Given the description of an element on the screen output the (x, y) to click on. 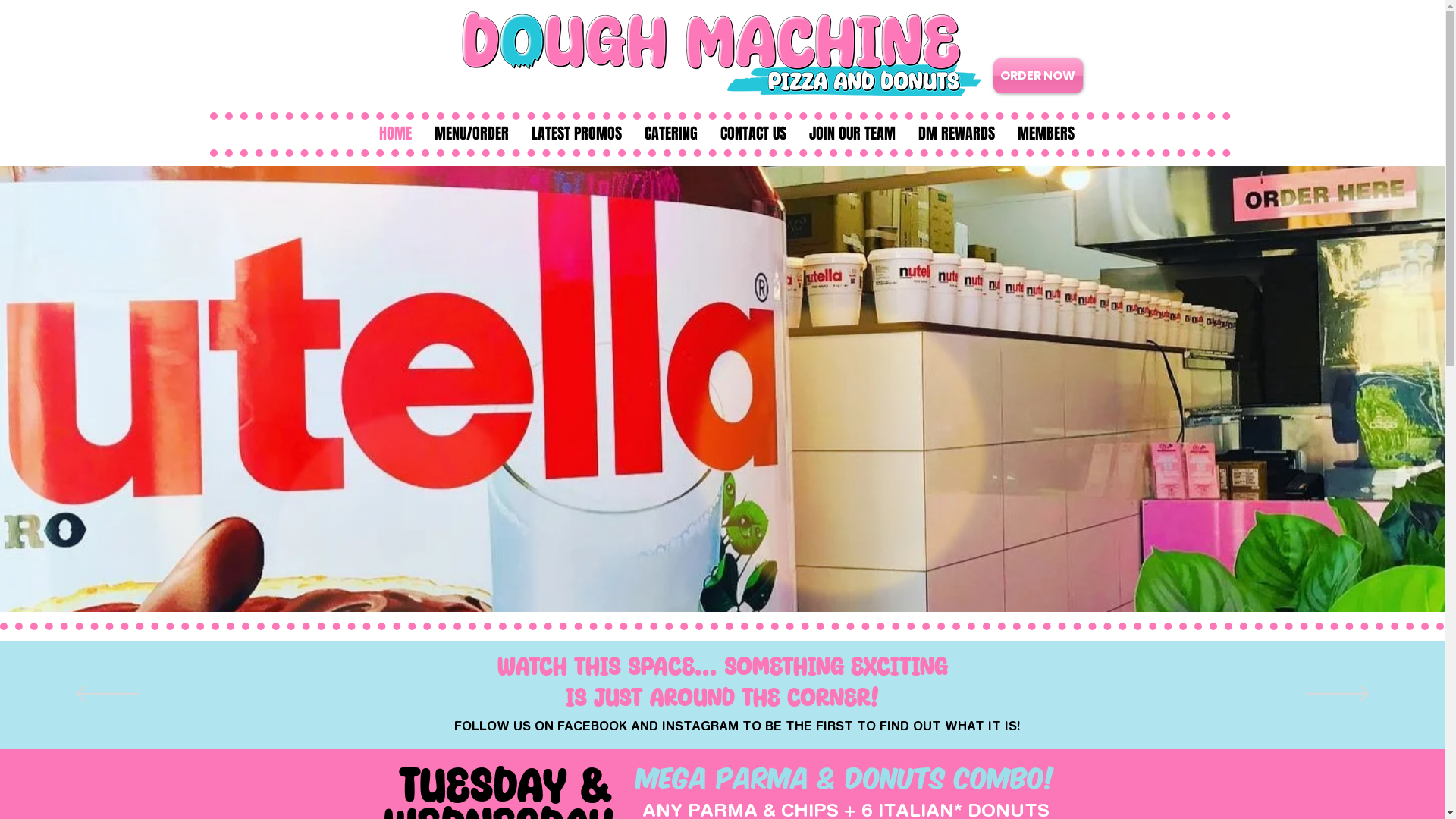
HOME Element type: text (394, 134)
JOIN OUR TEAM Element type: text (851, 134)
CONTACT US Element type: text (752, 134)
MENU/ORDER Element type: text (471, 134)
ORDER NOW Element type: text (1037, 75)
MEMBERS Element type: text (1045, 134)
DM REWARDS Element type: text (956, 134)
LATEST PROMOS Element type: text (576, 134)
CATERING Element type: text (670, 134)
